Given the description of an element on the screen output the (x, y) to click on. 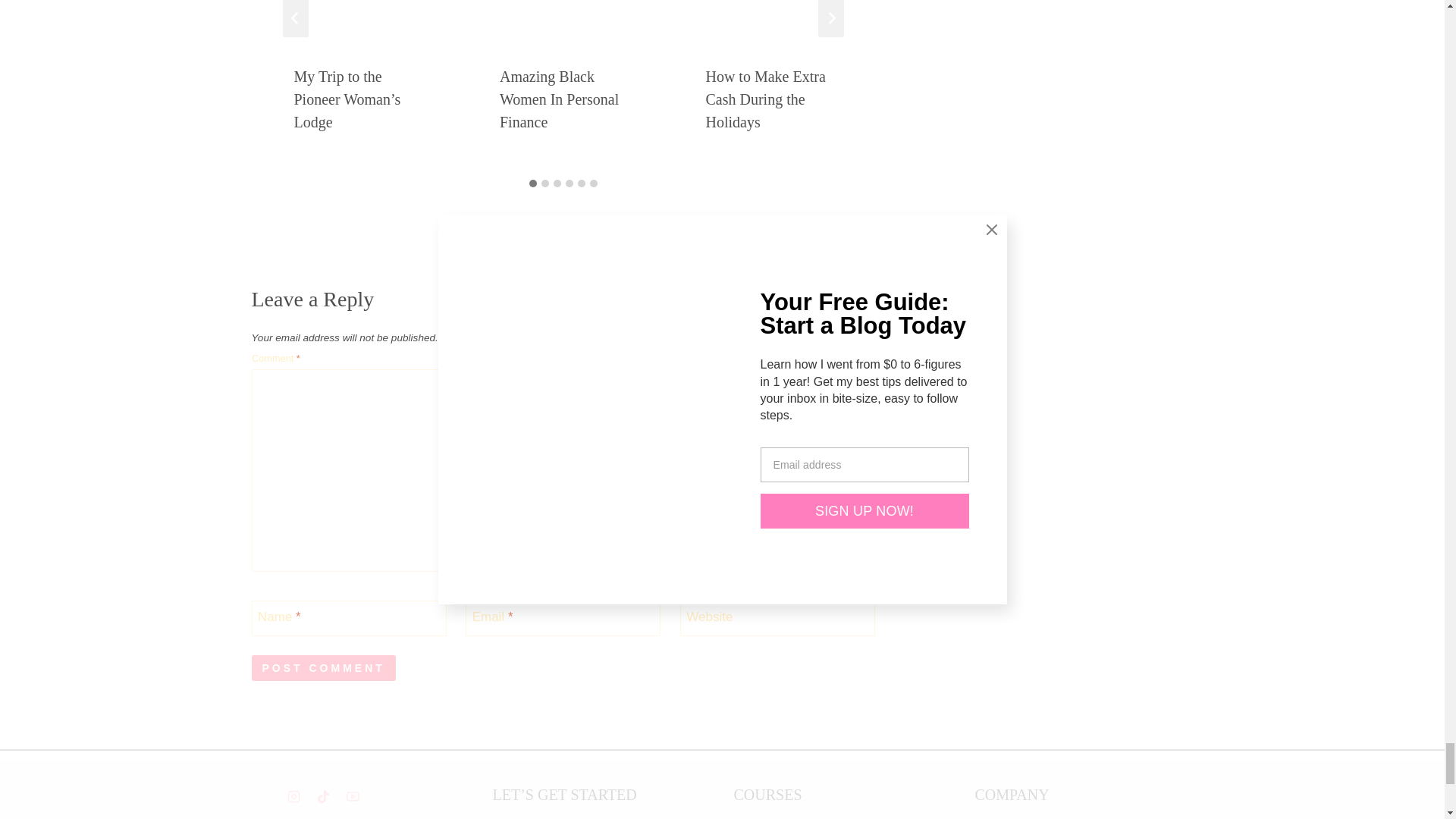
Post Comment (323, 667)
